Given the description of an element on the screen output the (x, y) to click on. 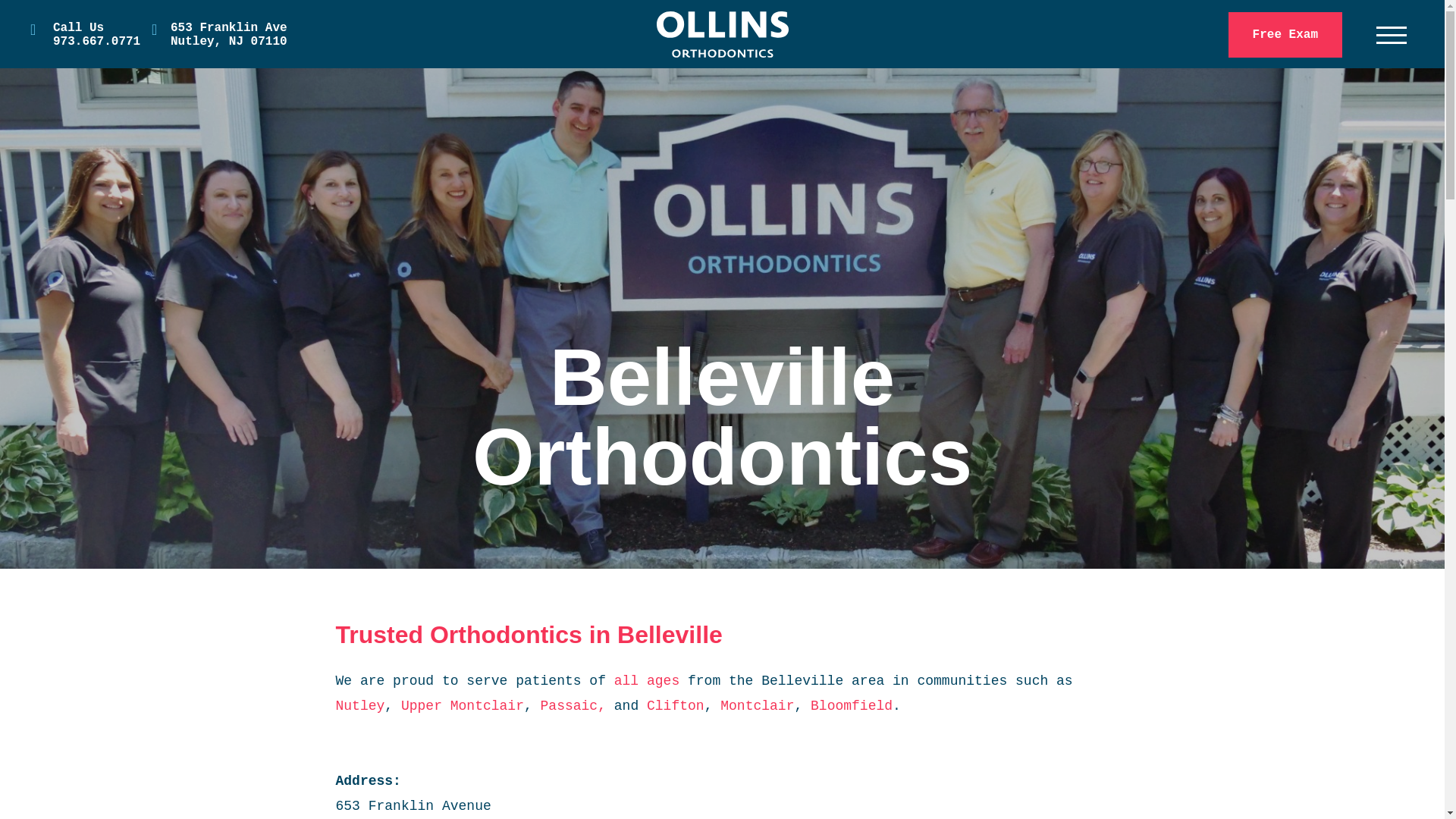
Free Exam (218, 44)
